Given the description of an element on the screen output the (x, y) to click on. 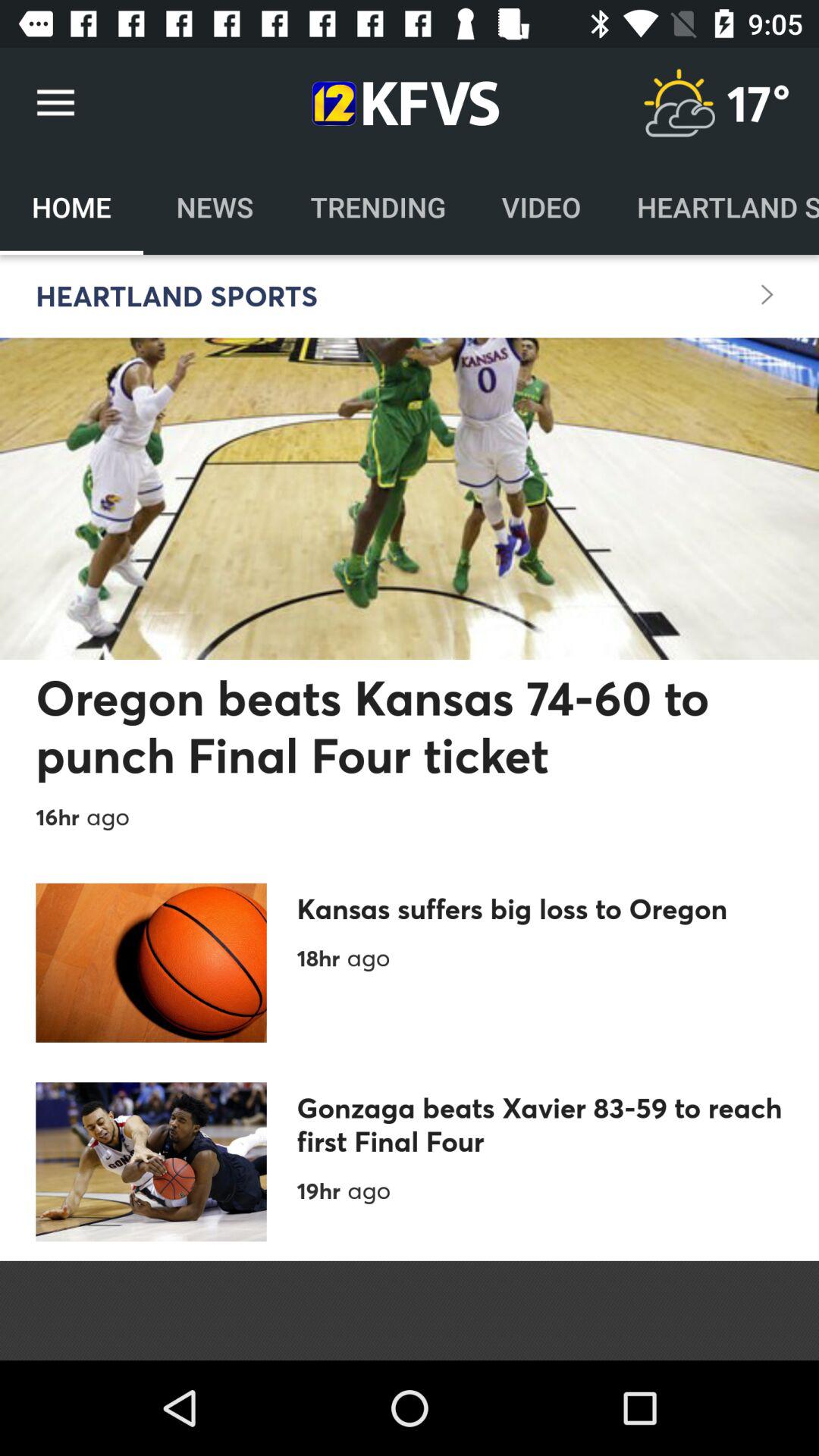
weather button (678, 103)
